Given the description of an element on the screen output the (x, y) to click on. 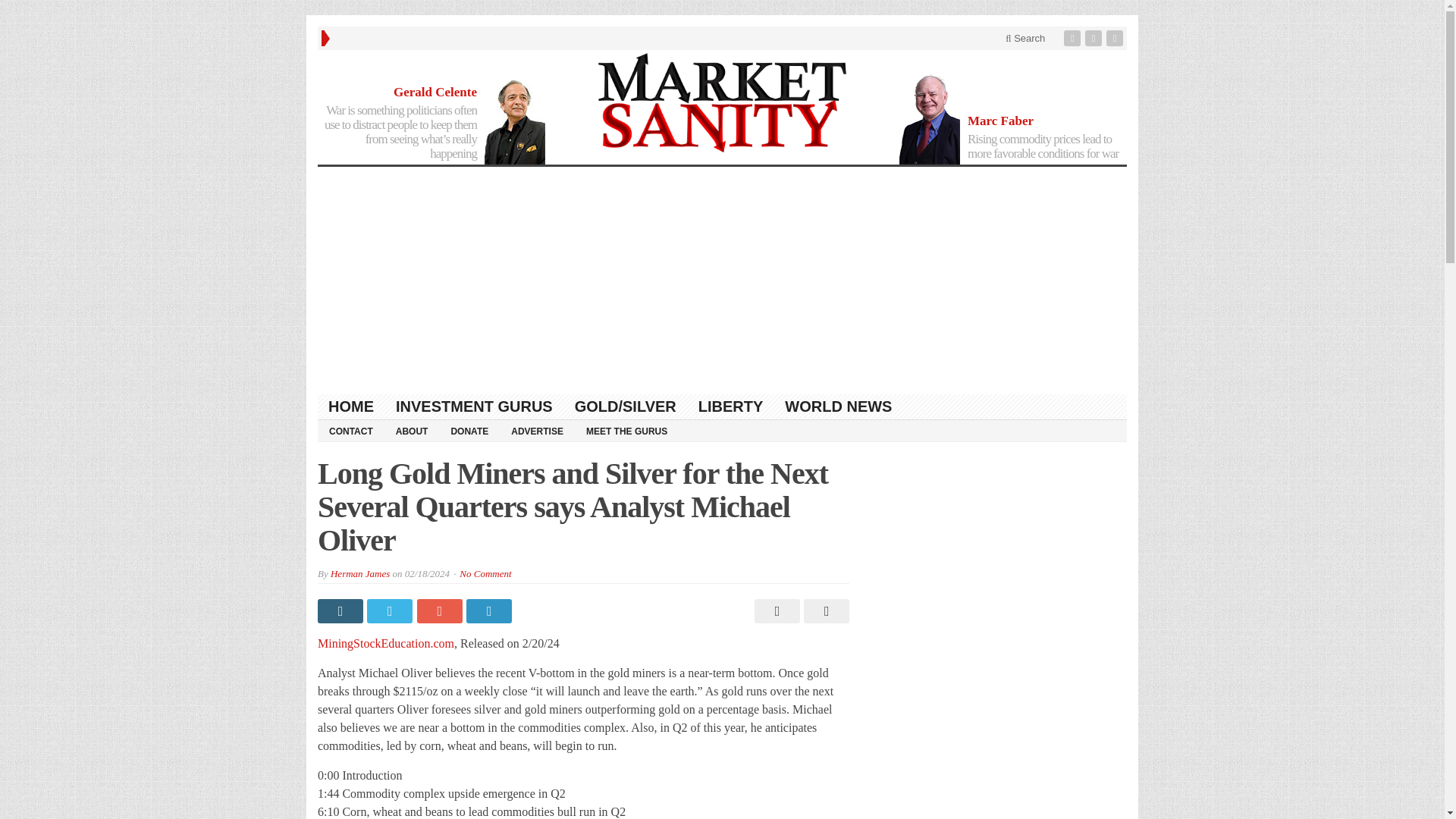
Gerald Celente (435, 92)
Facebook (1073, 37)
The Truth About Our Markets (722, 102)
HOME (351, 406)
Site feed (1115, 37)
Search (1024, 37)
INVESTMENT GURUS (474, 406)
Marc Faber (1000, 120)
Twitter (1094, 37)
